Given the description of an element on the screen output the (x, y) to click on. 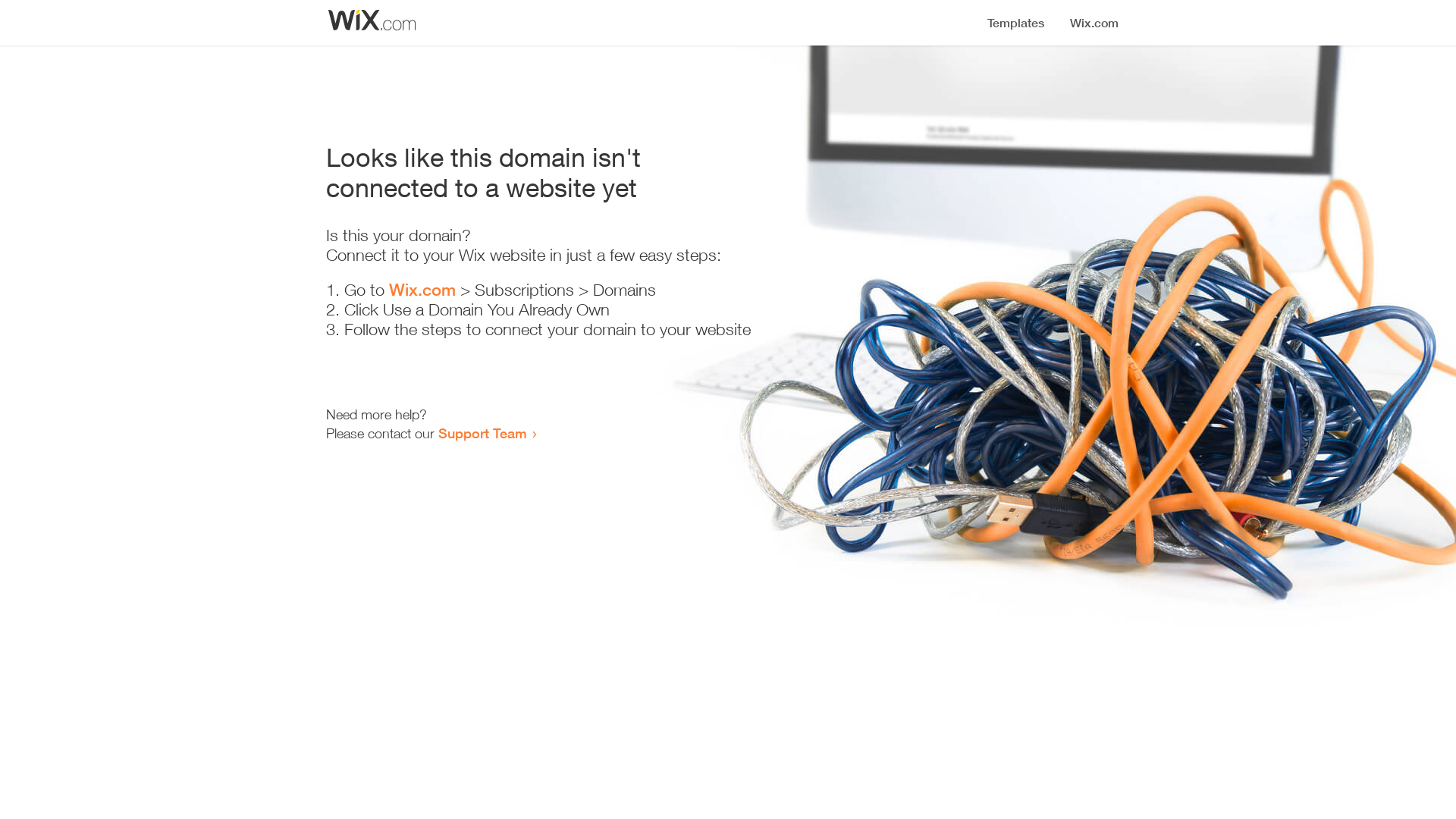
Support Team Element type: text (482, 432)
Wix.com Element type: text (422, 289)
